Given the description of an element on the screen output the (x, y) to click on. 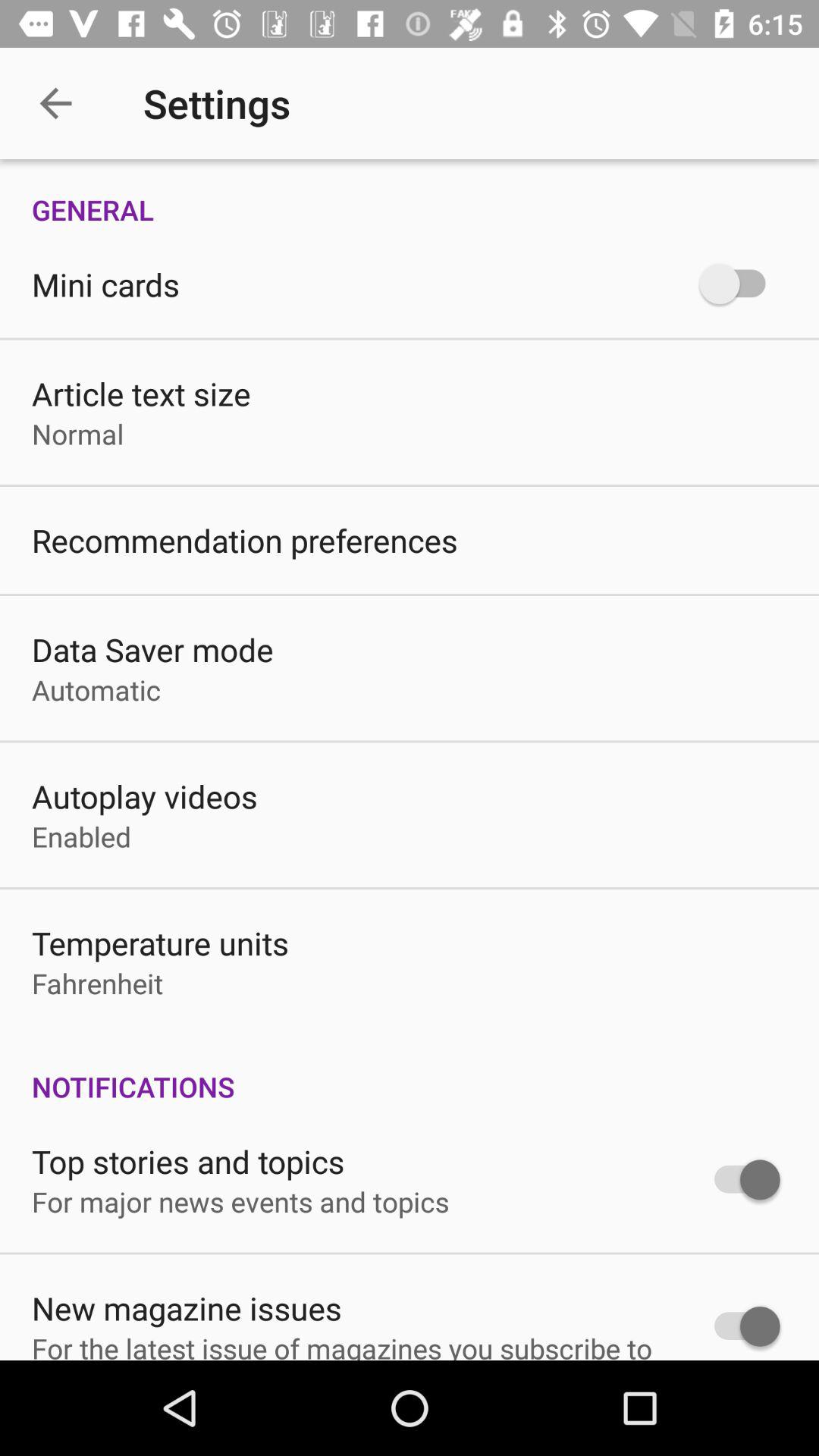
swipe to autoplay videos icon (144, 795)
